Given the description of an element on the screen output the (x, y) to click on. 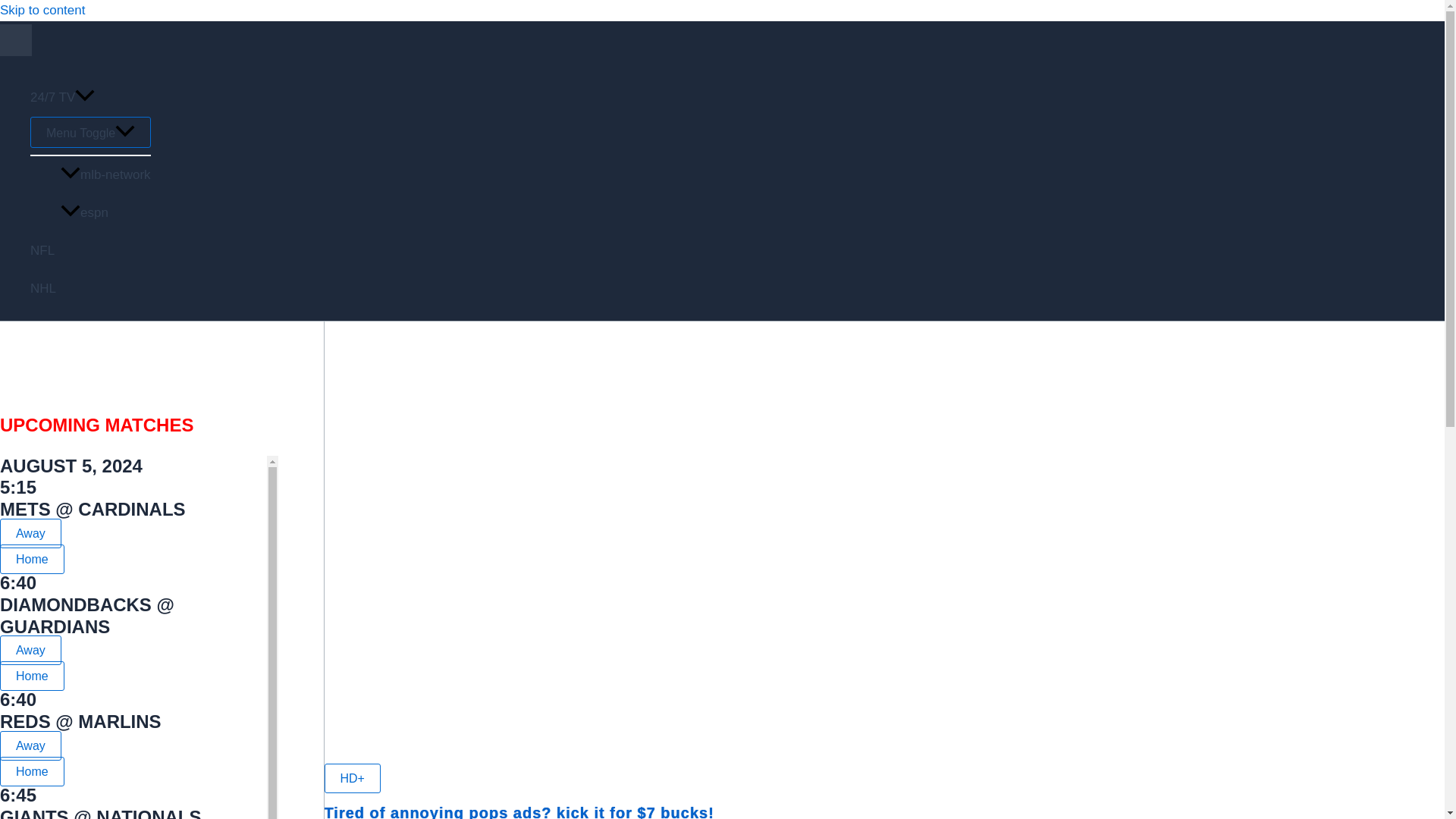
Skip to content (42, 10)
Home (32, 771)
Home (32, 675)
Away (30, 532)
Away (30, 745)
Menu Toggle (90, 132)
espn (106, 212)
Away (30, 650)
mlb-network (106, 175)
Skip to content (42, 10)
NFL (90, 250)
NHL (90, 288)
Home (32, 559)
